Given the description of an element on the screen output the (x, y) to click on. 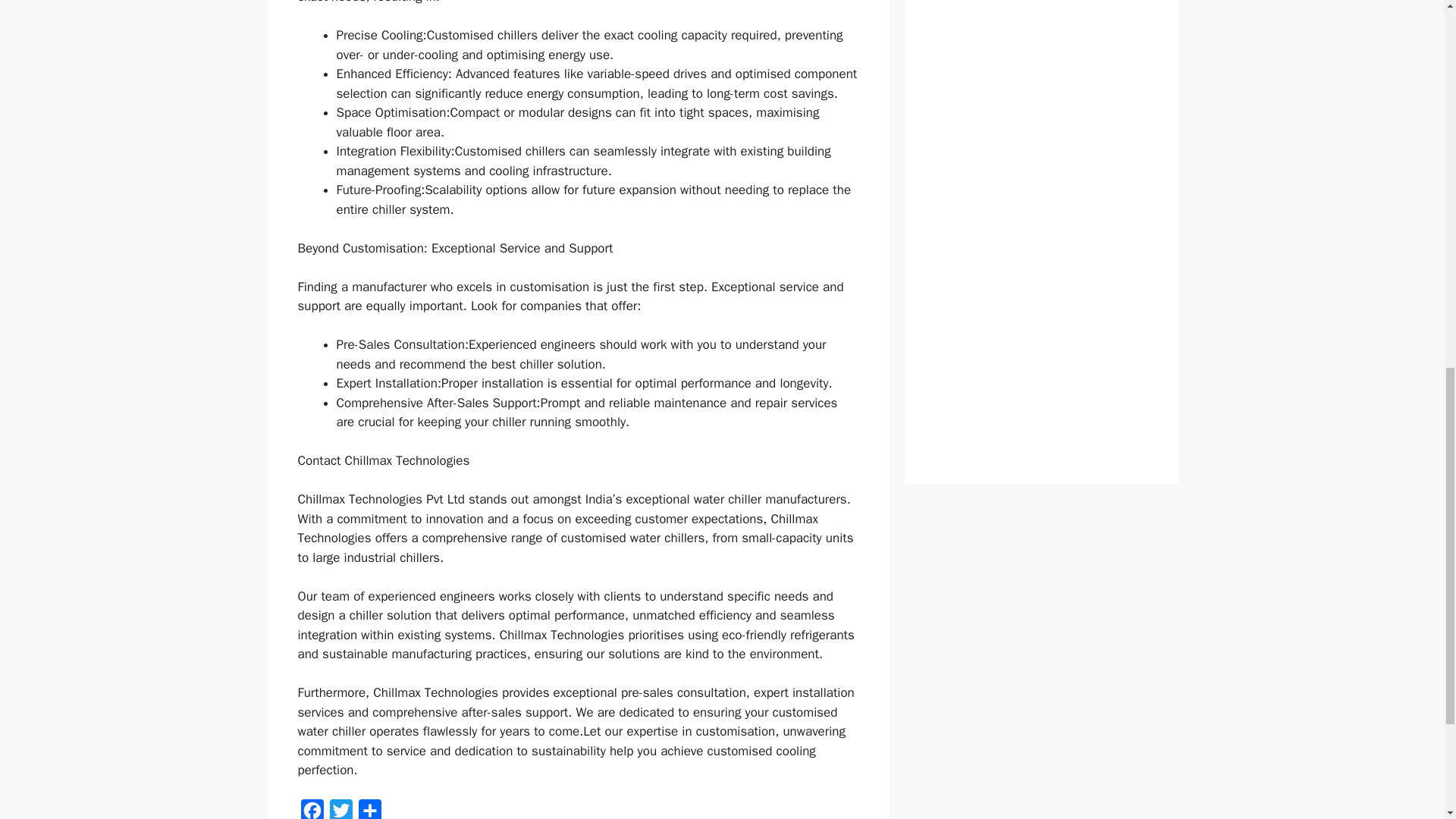
Twitter (340, 809)
Facebook (311, 809)
Scroll back to top (1406, 720)
Facebook (311, 809)
Twitter (340, 809)
